Given the description of an element on the screen output the (x, y) to click on. 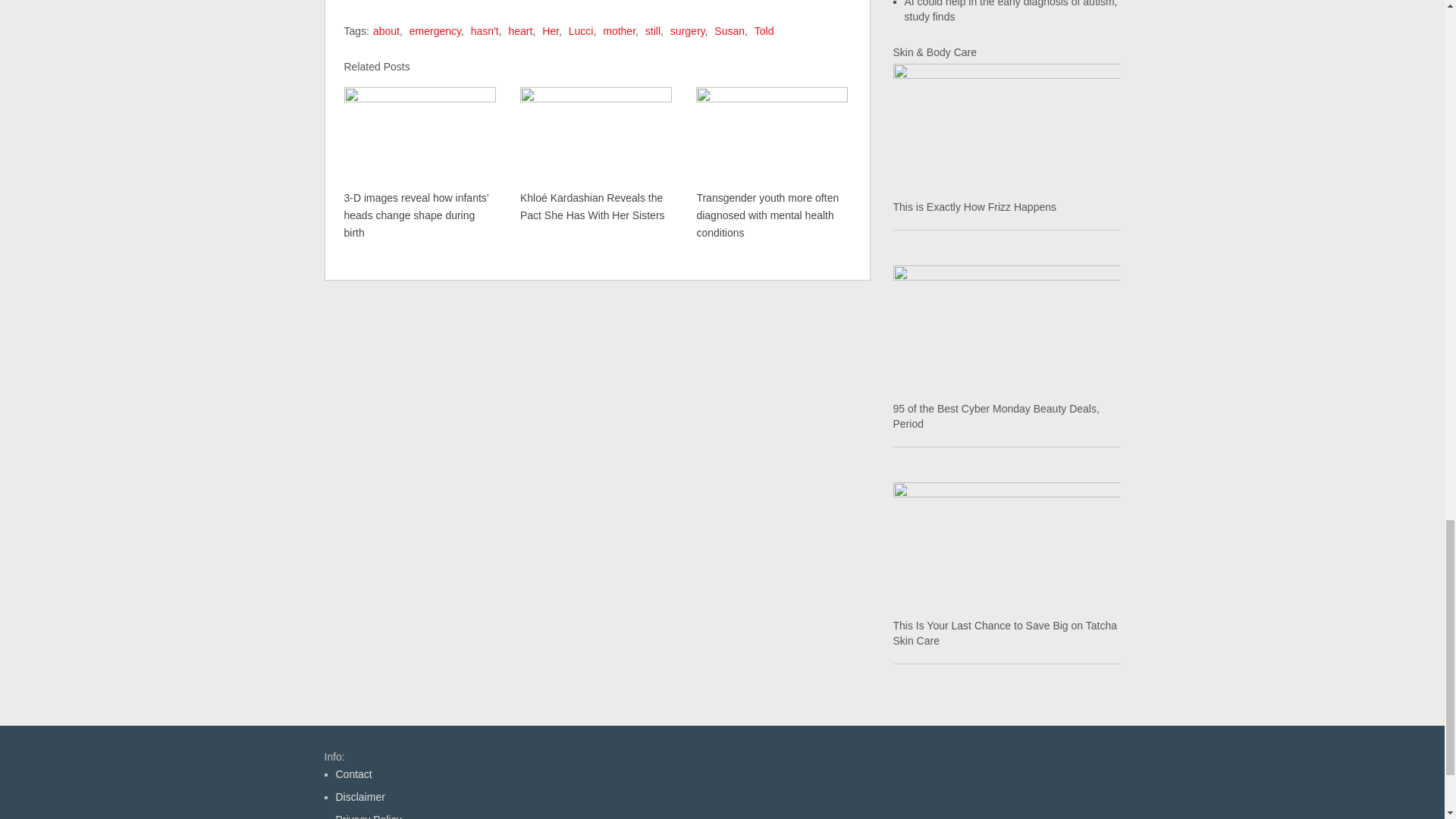
This is Exactly How Frizz Happens (1007, 127)
hasn't (484, 30)
still (653, 30)
about (385, 30)
Told (764, 30)
surgery (686, 30)
heart (520, 30)
Her (550, 30)
AI could help in the early diagnosis of autism, study finds (1010, 11)
Susan (729, 30)
Lucci (581, 30)
emergency (435, 30)
mother (618, 30)
